Given the description of an element on the screen output the (x, y) to click on. 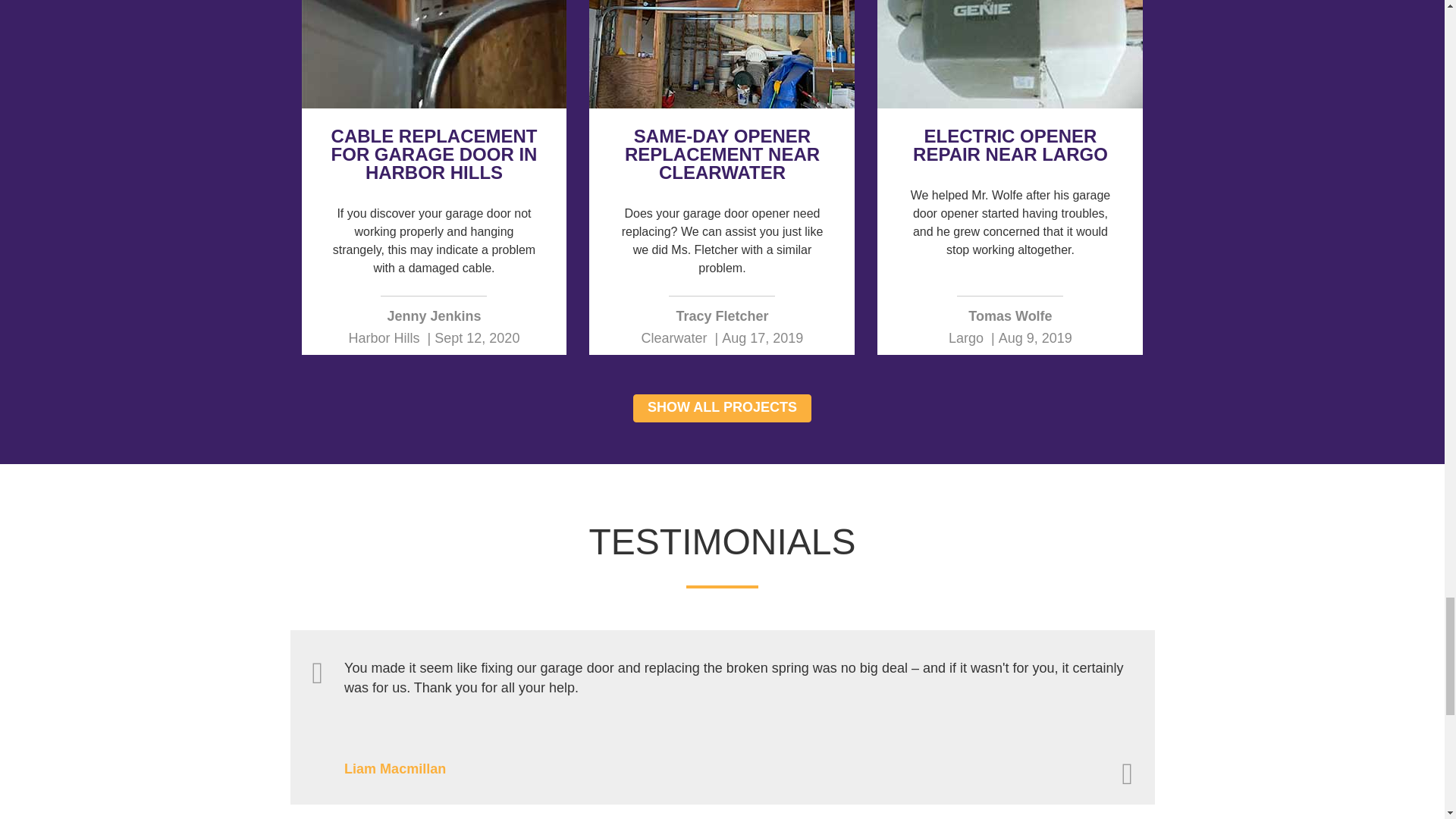
Garage Door Cable Replacement, Harbor Hills (434, 54)
